Given the description of an element on the screen output the (x, y) to click on. 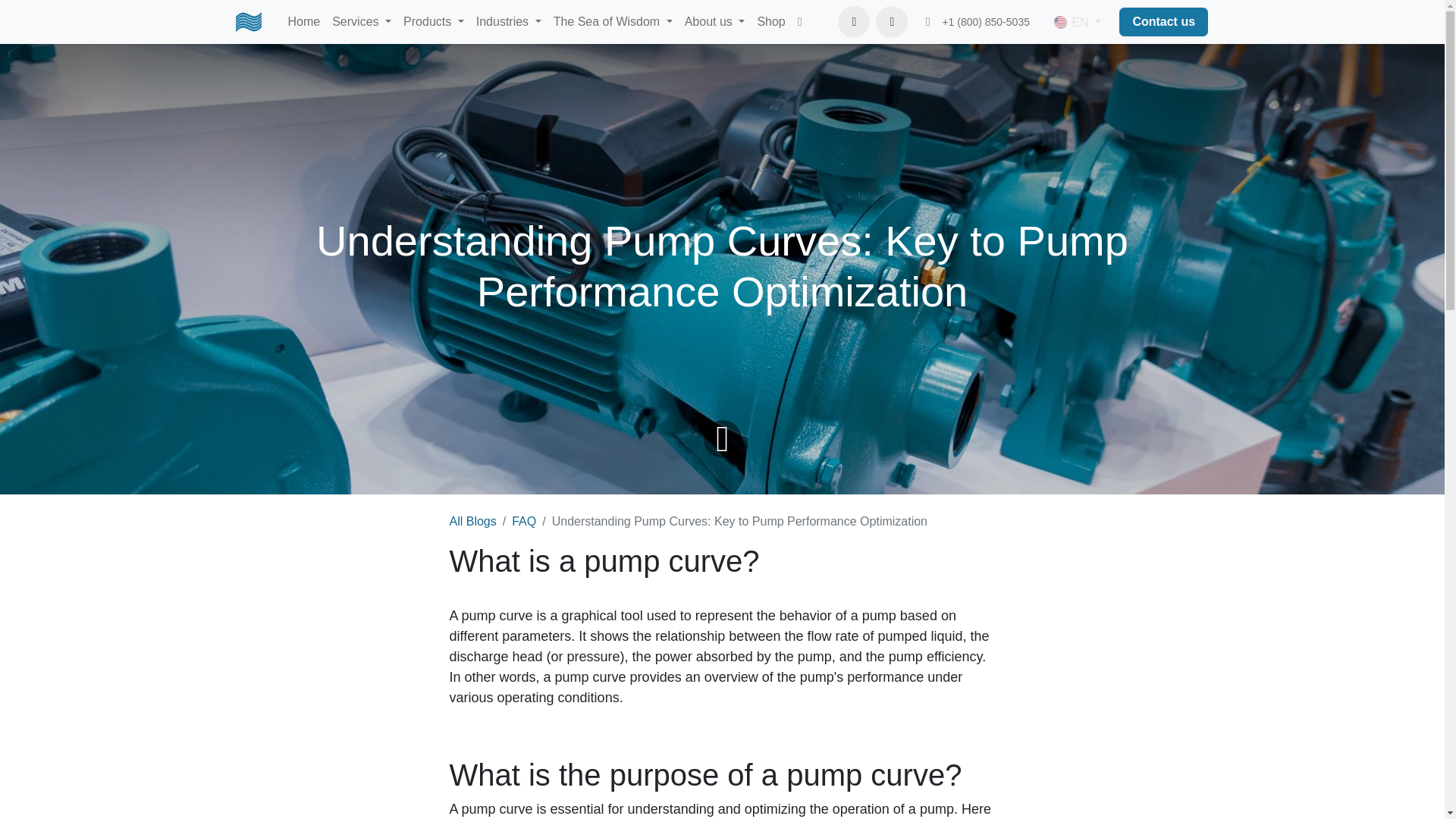
Services (361, 21)
Home (304, 21)
Products (433, 21)
The Sea of Wisdom (612, 21)
Search (891, 21)
About us (714, 21)
Durpro (247, 21)
Industries (508, 21)
Shop (770, 21)
